Given the description of an element on the screen output the (x, y) to click on. 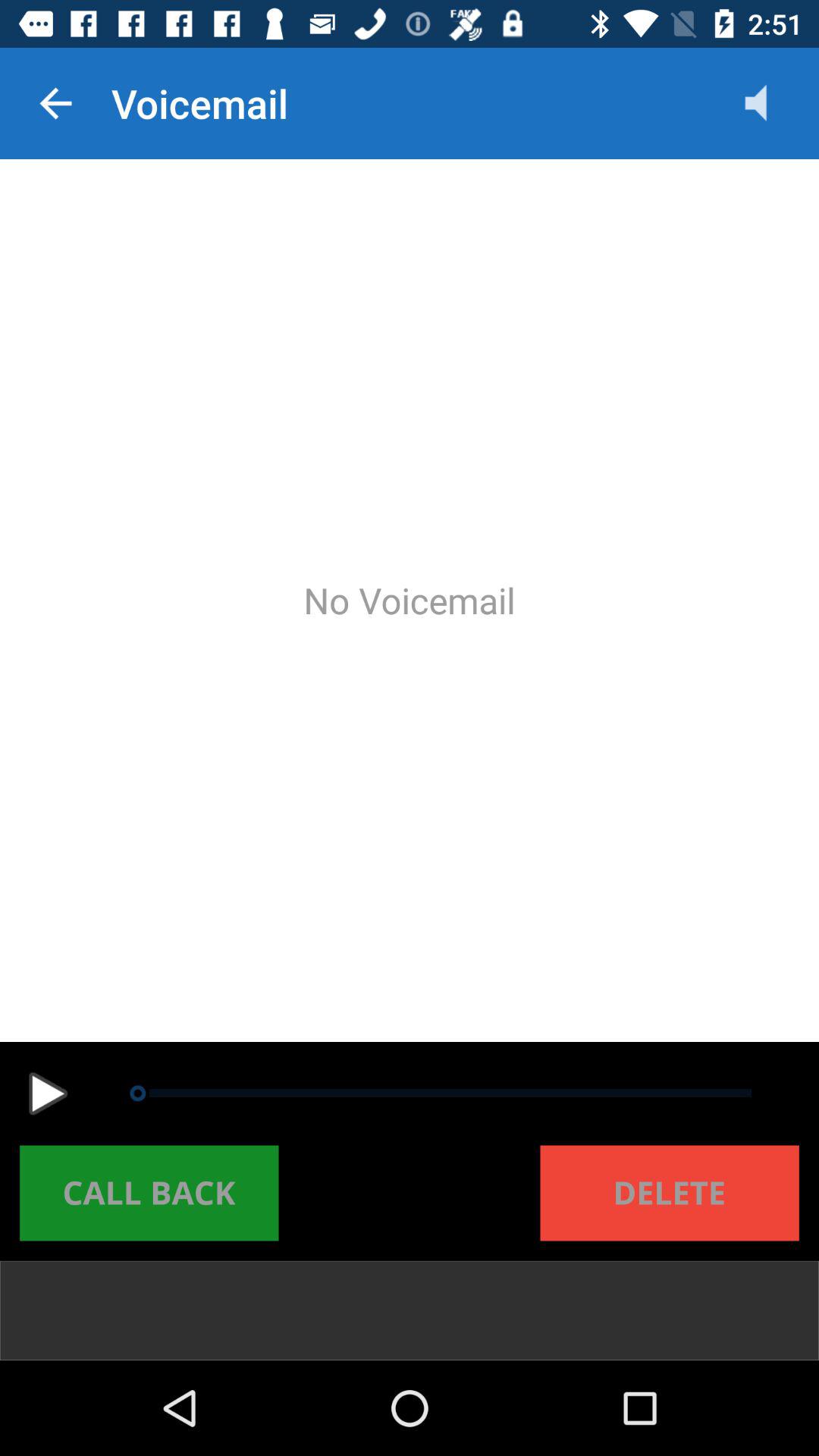
launch icon to the left of the voicemail icon (55, 103)
